Given the description of an element on the screen output the (x, y) to click on. 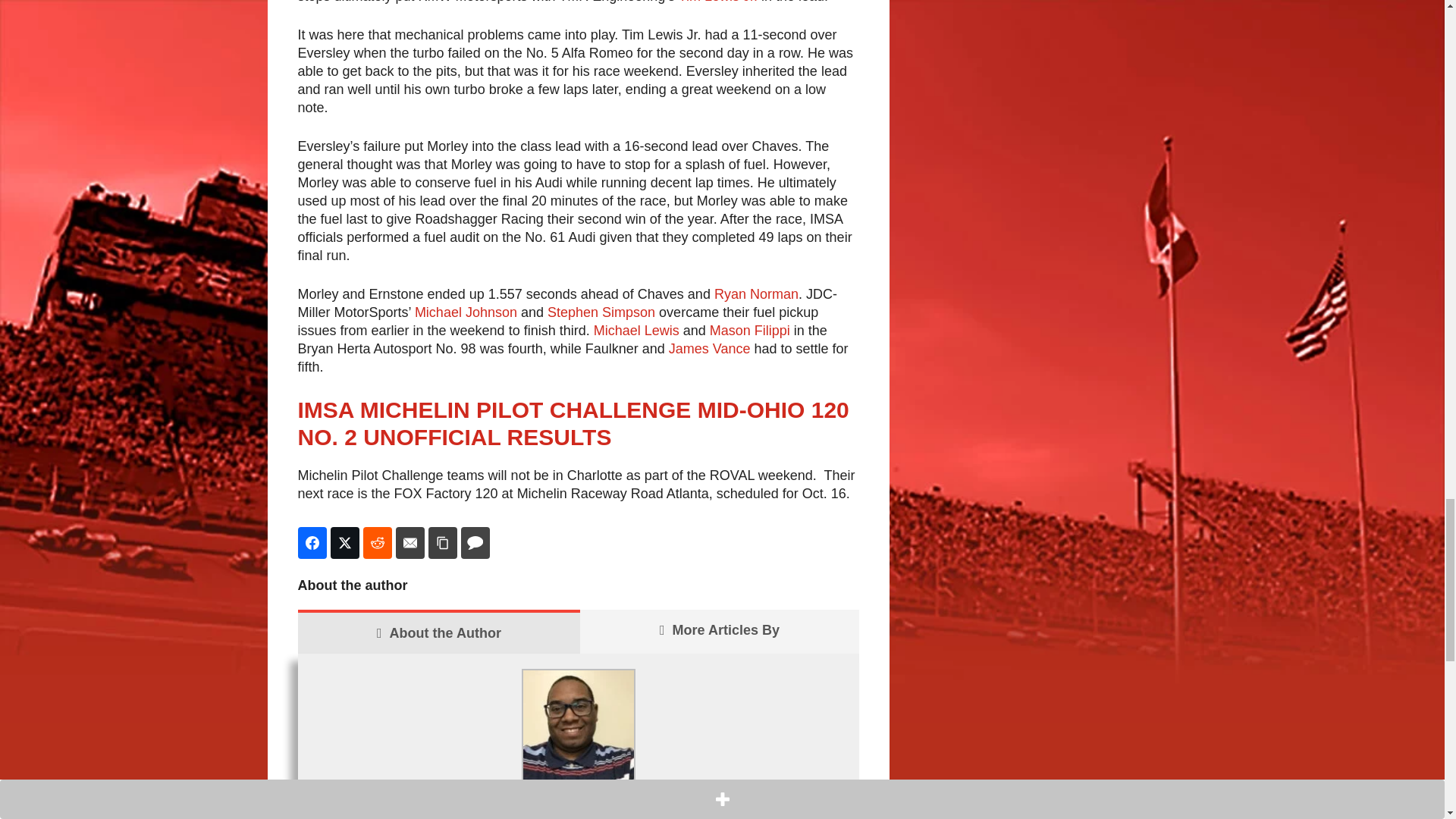
Share on Facebook (311, 542)
Share on Copy Link (442, 542)
Share on Email (410, 542)
Share on Reddit (376, 542)
Share on Comments (475, 542)
Share on Twitter (344, 542)
